Given the description of an element on the screen output the (x, y) to click on. 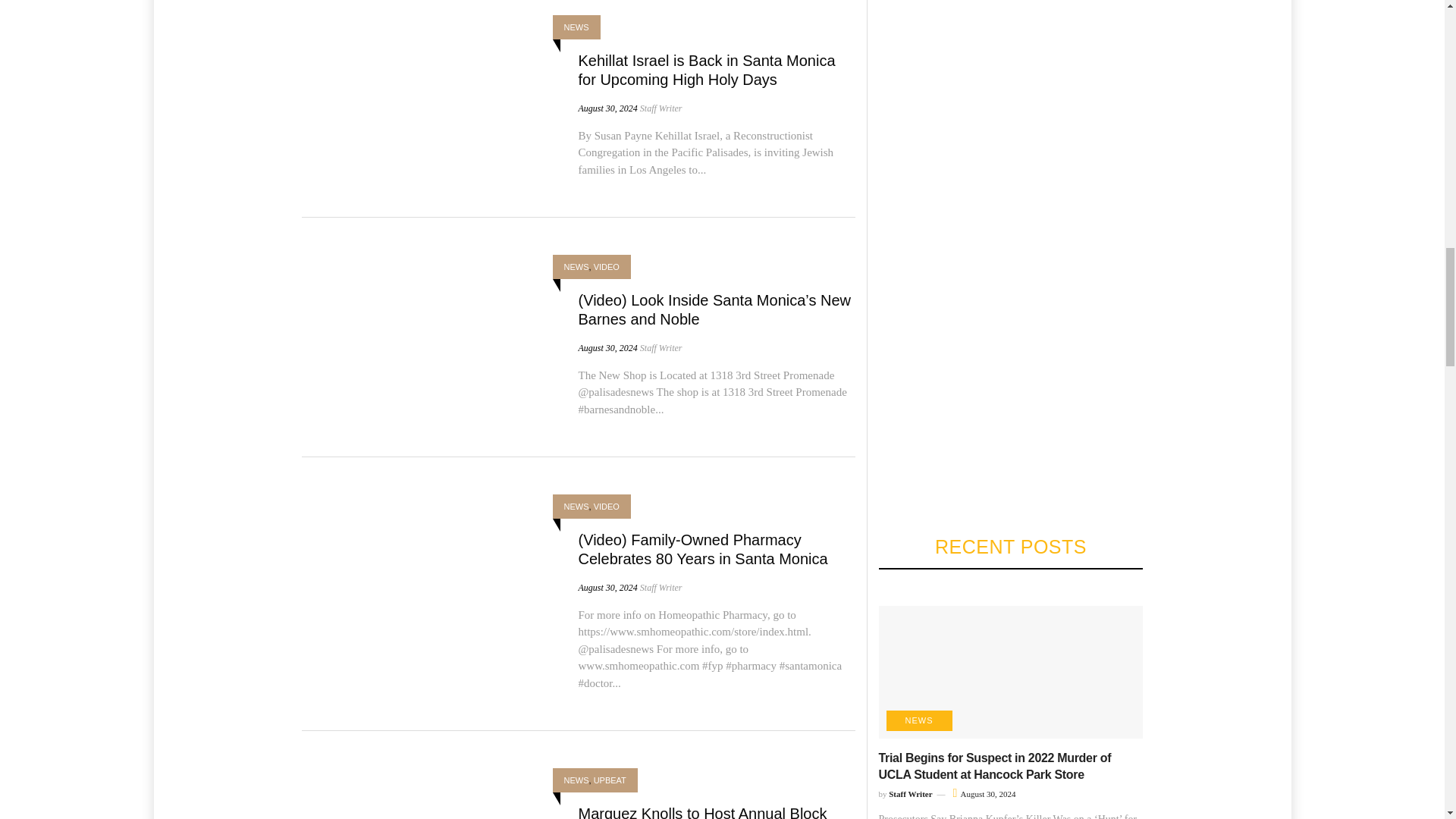
Posts by Staff Writer (661, 347)
Posts by Staff Writer (661, 108)
Posts by Staff Writer (661, 587)
NEWS (576, 27)
